Given the description of an element on the screen output the (x, y) to click on. 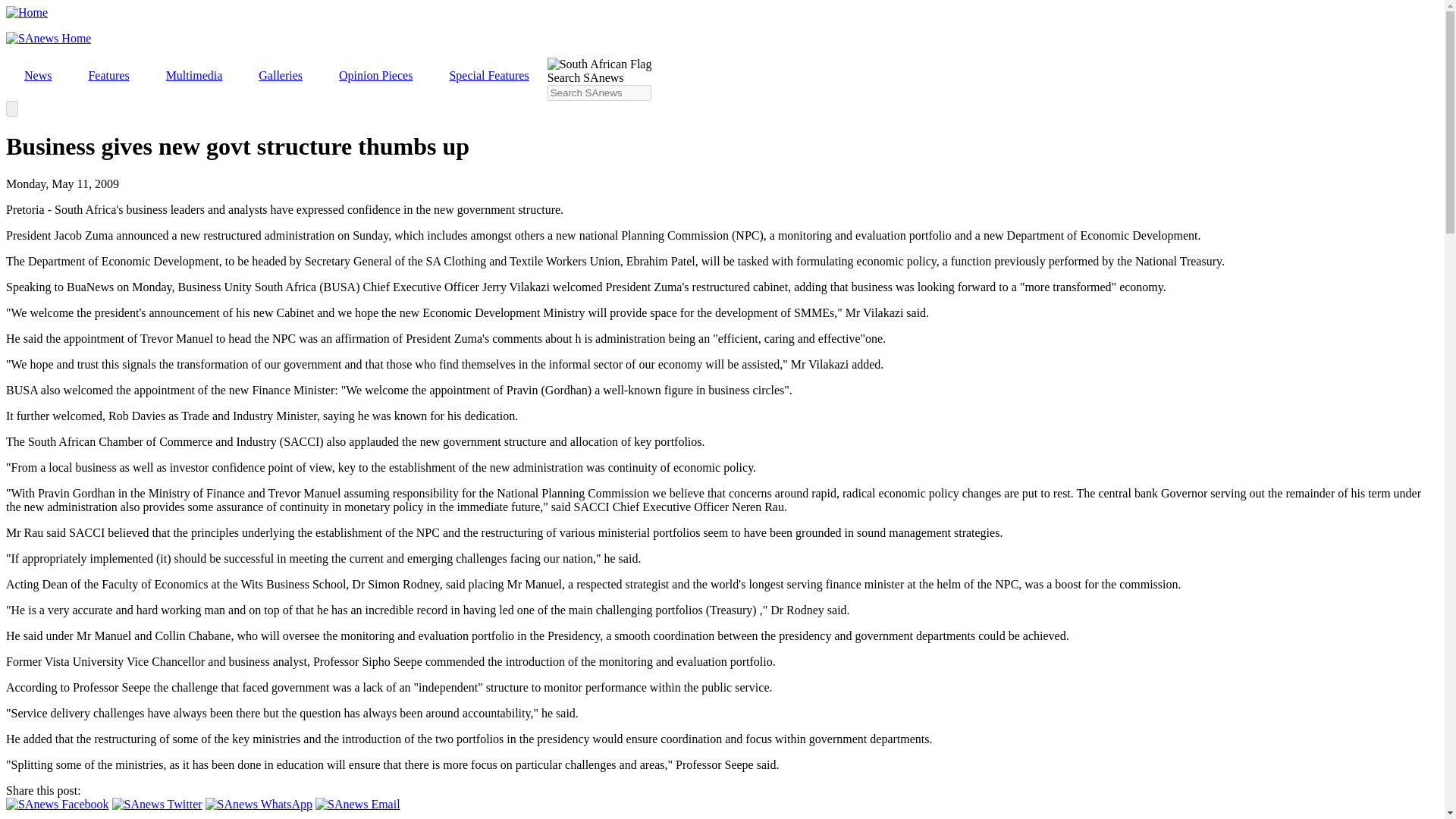
Home (26, 11)
Multimedia (194, 75)
News (37, 75)
Enter the terms you wish to search for. (598, 92)
Share on Facebook (57, 803)
Share on Twitter (157, 803)
Share on WhatsApp (259, 803)
Galleries (280, 75)
Features (108, 75)
Special Features (488, 75)
